Given the description of an element on the screen output the (x, y) to click on. 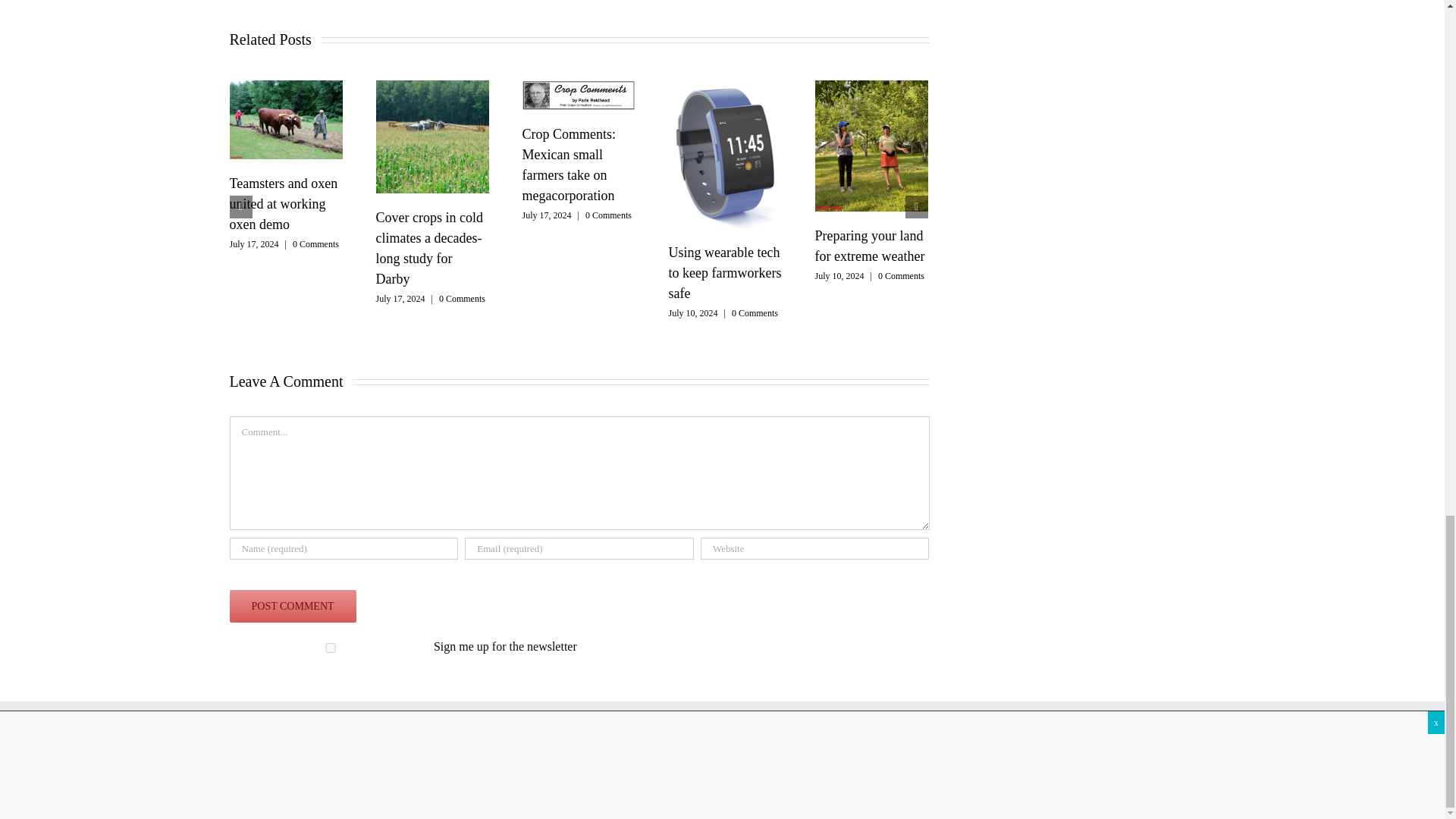
Teamsters and oxen united at working oxen demo (285, 119)
1 (329, 647)
Cover crops in cold climates a decades-long study for Darby (432, 136)
Crop Comments: Mexican Small Farmers Take on Megacorporation (577, 94)
Teamsters and oxen united at working oxen demo (282, 203)
Post Comment (291, 605)
Crop Comments: Mexican small farmers take on megacorporation (568, 164)
Cover crops in cold climates a decades-long study for Darby (429, 247)
